Given the description of an element on the screen output the (x, y) to click on. 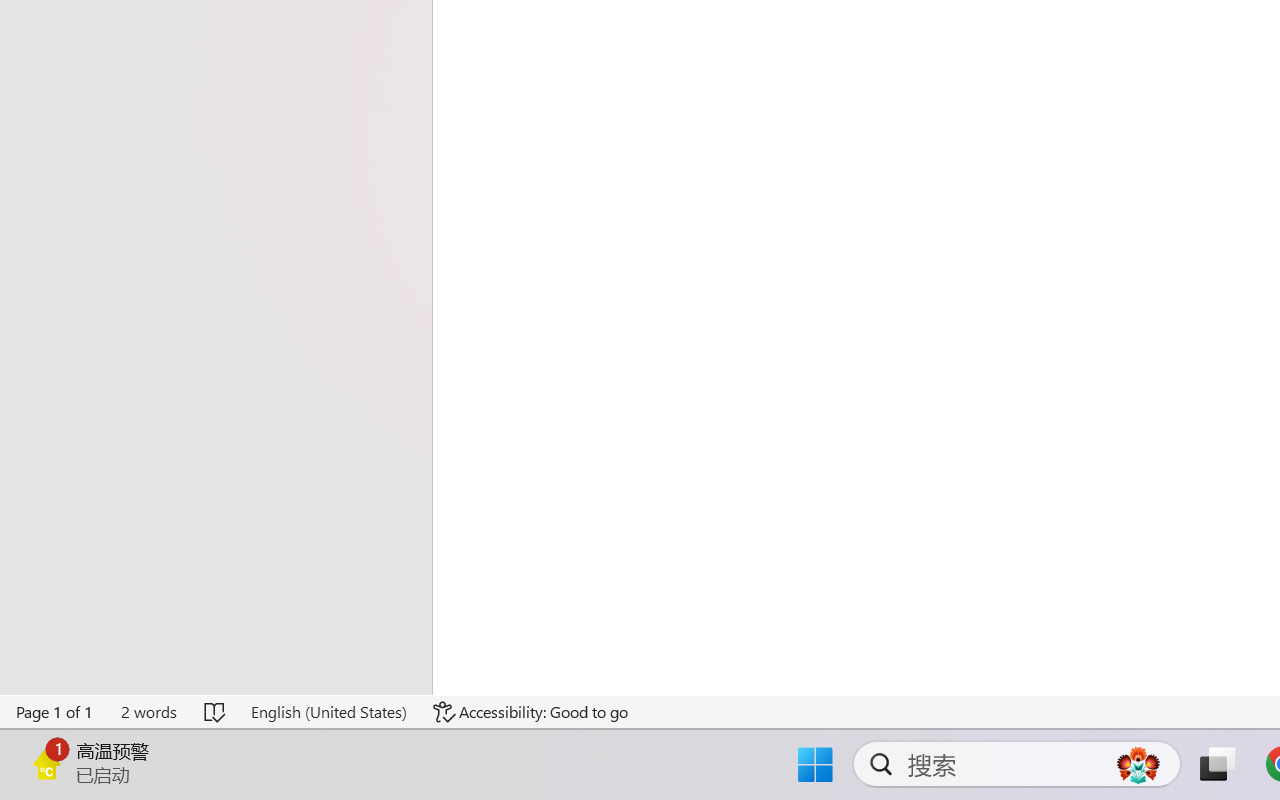
Spelling and Grammar Check No Errors (216, 712)
Language English (United States) (328, 712)
AutomationID: DynamicSearchBoxGleamImage (1138, 764)
AutomationID: BadgeAnchorLargeTicker (46, 762)
Accessibility Checker Accessibility: Good to go (531, 712)
Page Number Page 1 of 1 (55, 712)
